Given the description of an element on the screen output the (x, y) to click on. 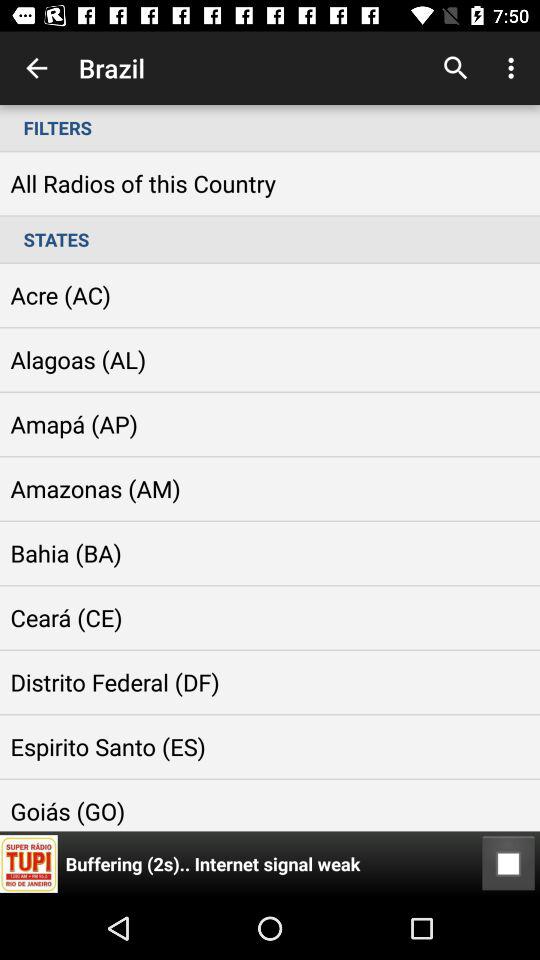
select the icon to the left of the brazil icon (36, 68)
